Given the description of an element on the screen output the (x, y) to click on. 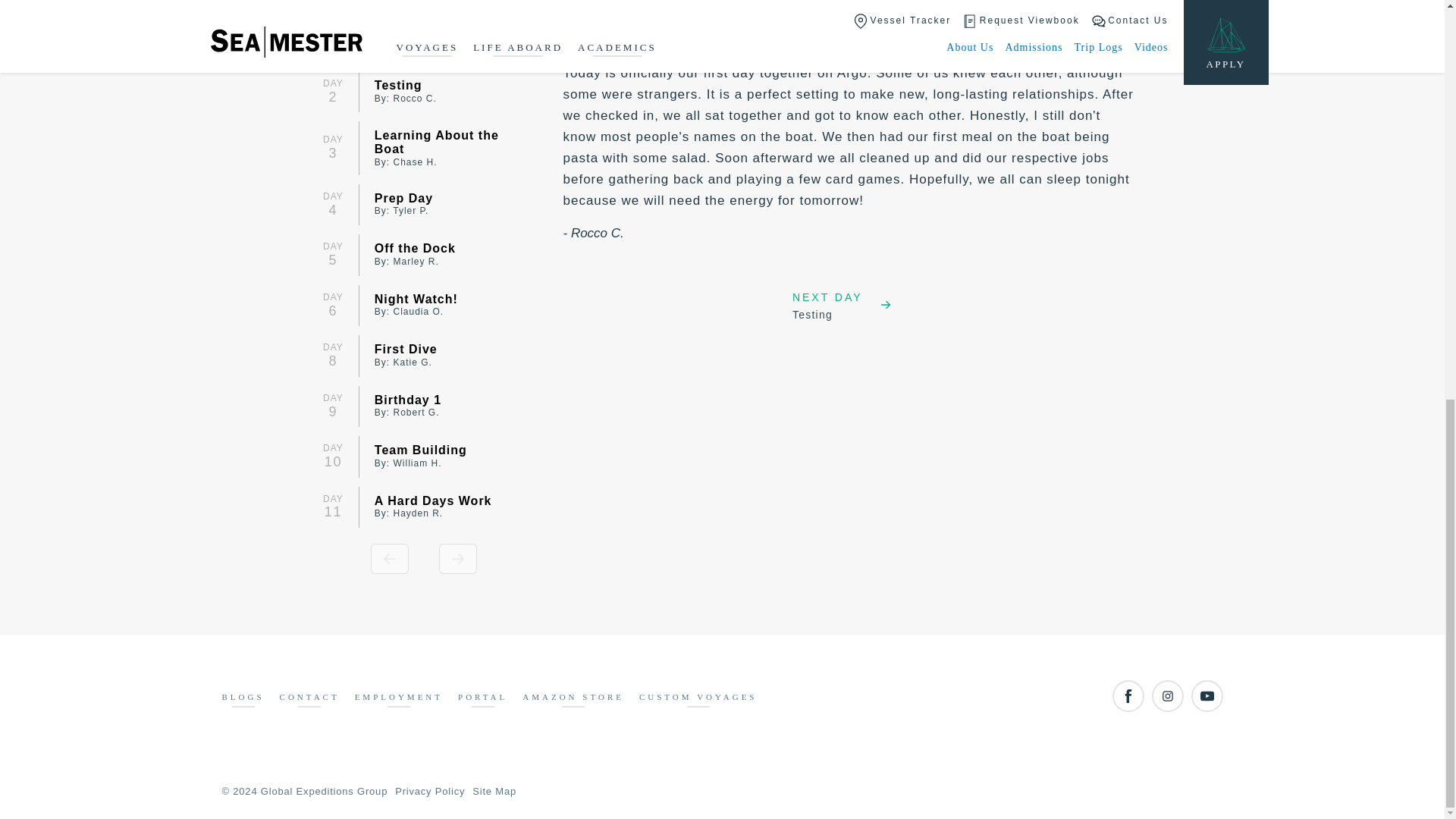
youtube (1207, 695)
instagram (1166, 695)
facebook (1127, 695)
